Given the description of an element on the screen output the (x, y) to click on. 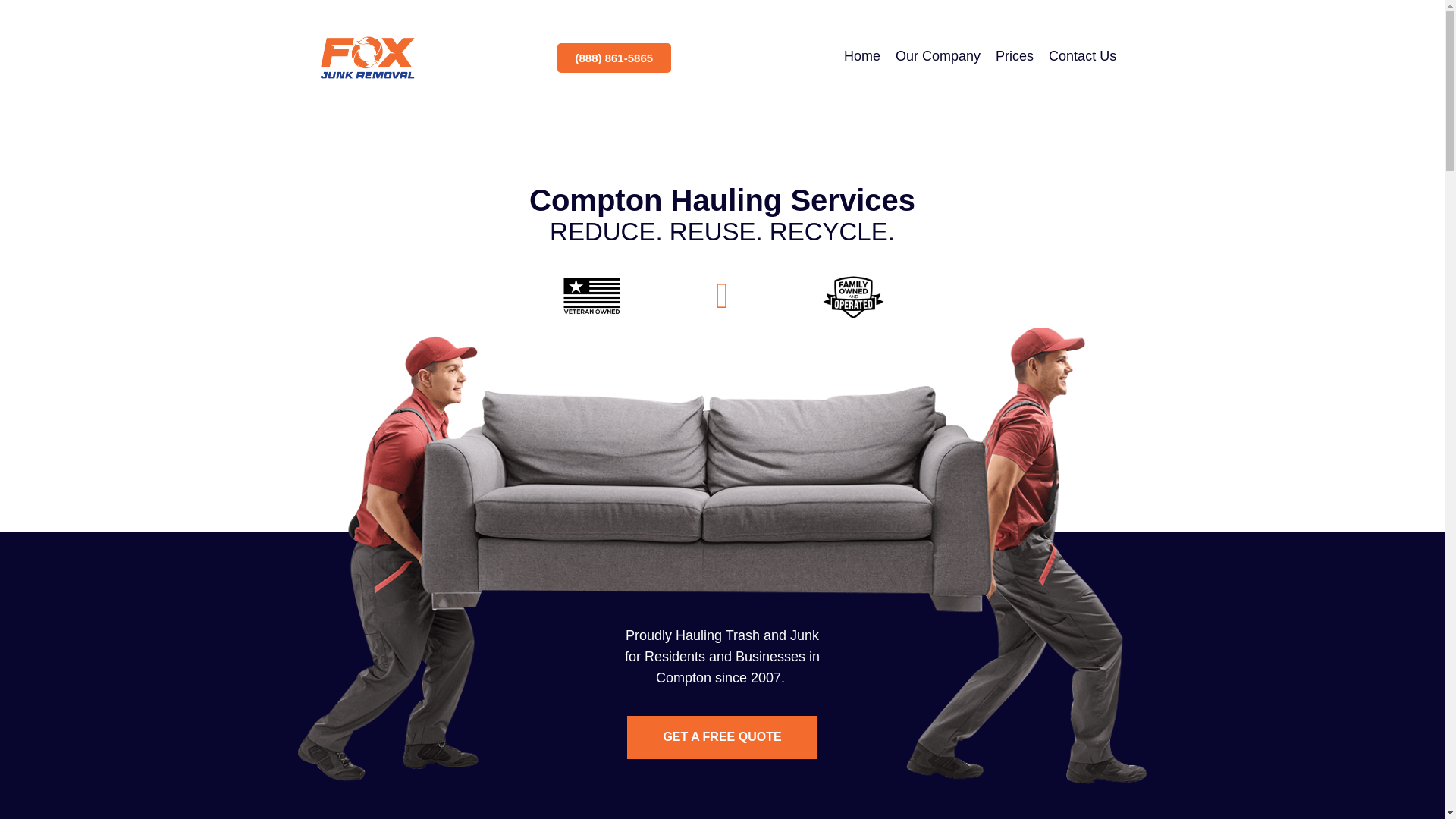
Prices (1014, 57)
Contact Us (1082, 57)
Our Company (938, 57)
Home (861, 57)
GET A FREE QUOTE (721, 737)
